Given the description of an element on the screen output the (x, y) to click on. 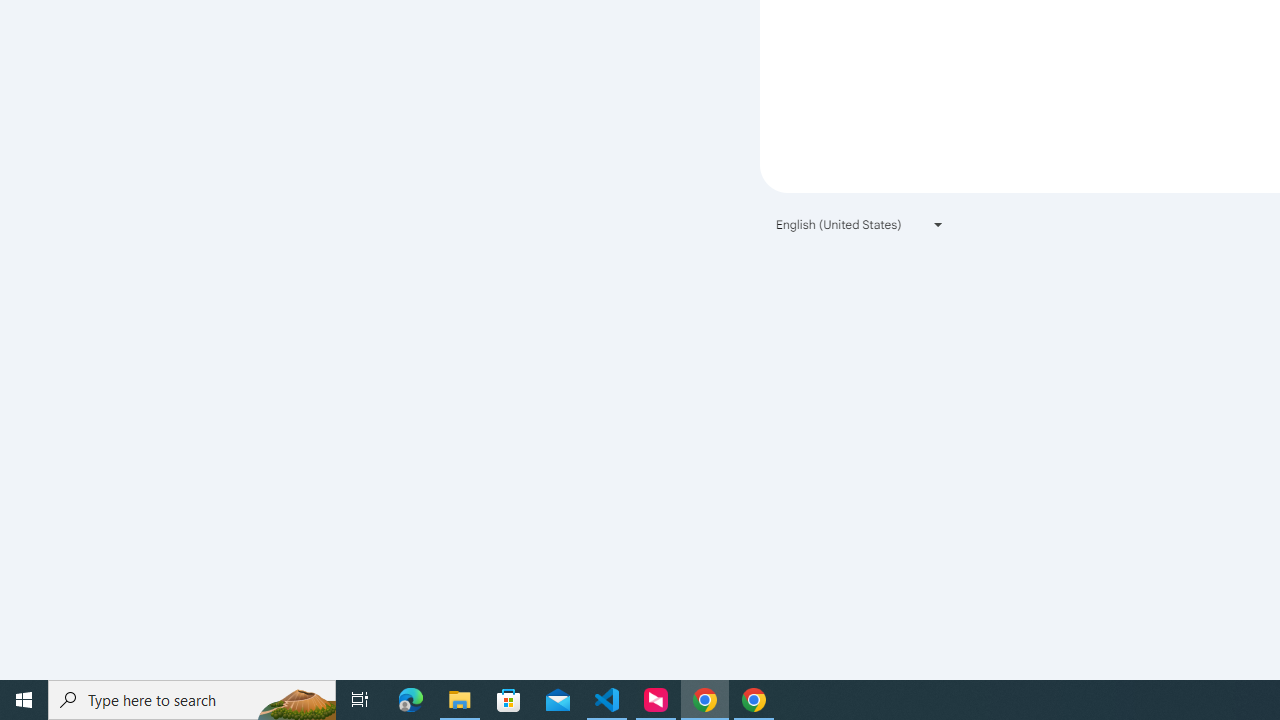
English (United States) (860, 224)
